Given the description of an element on the screen output the (x, y) to click on. 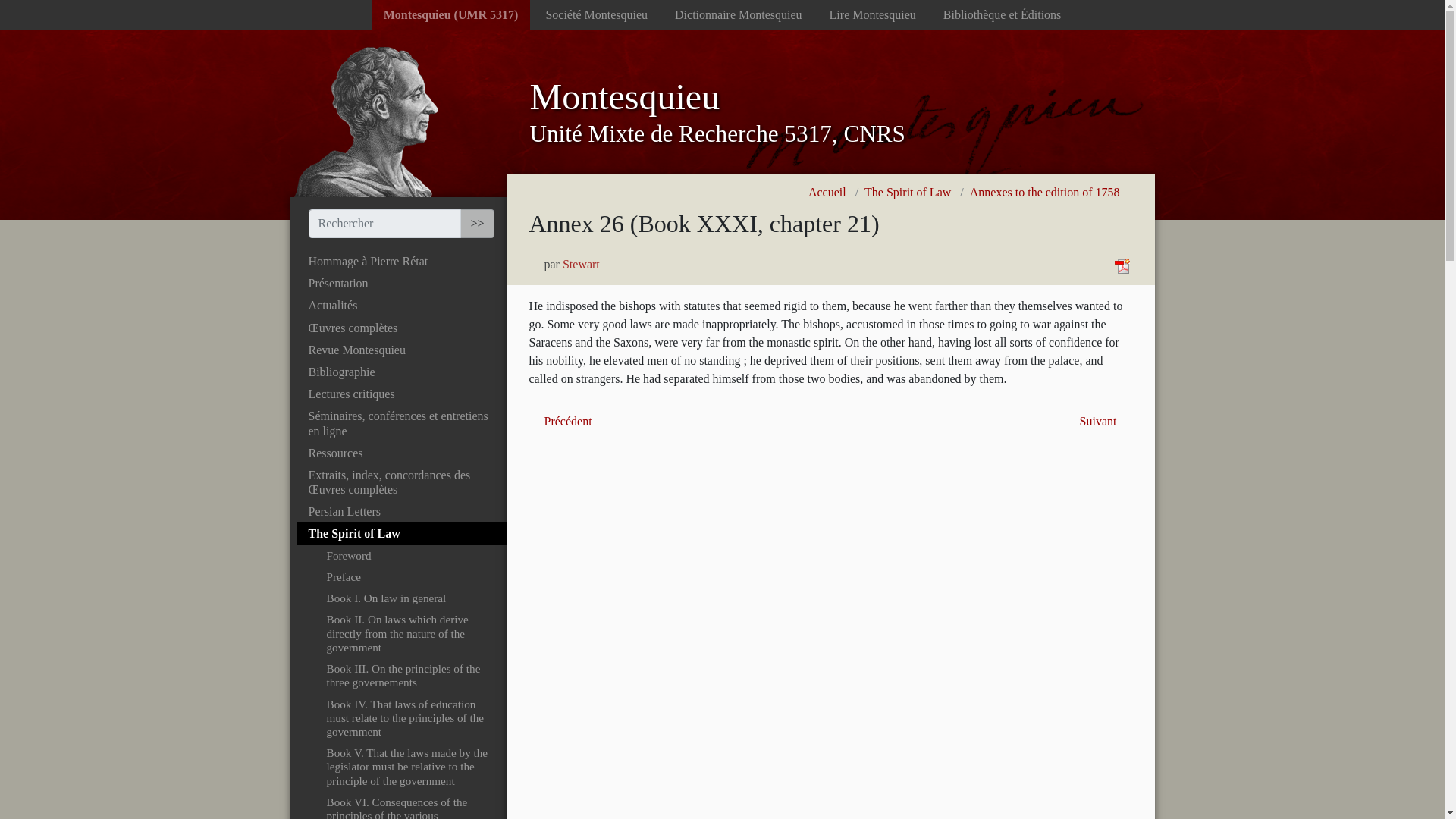
Revue Montesquieu (400, 350)
Dictionnaire Montesquieu (737, 15)
Lire Montesquieu (872, 15)
Enregistrer au format PDF (1122, 264)
Accueil (829, 112)
Ressources (400, 453)
Rechercher (476, 223)
Lectures critiques (400, 393)
Bibliographie (400, 372)
